Given the description of an element on the screen output the (x, y) to click on. 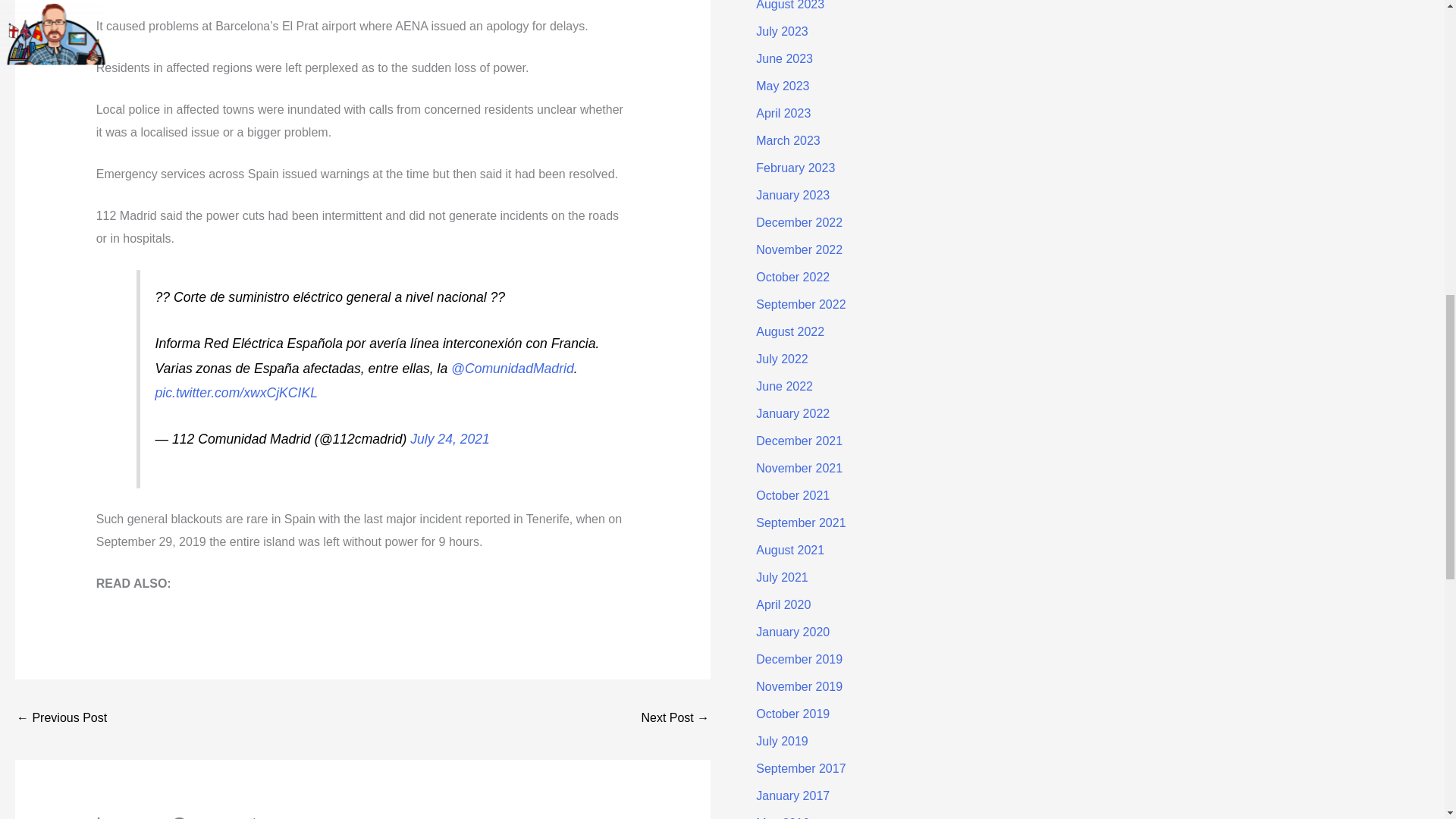
July 2023 (781, 31)
August 2023 (789, 5)
July 24, 2021 (449, 438)
May 2023 (782, 85)
June 2023 (783, 58)
